Given the description of an element on the screen output the (x, y) to click on. 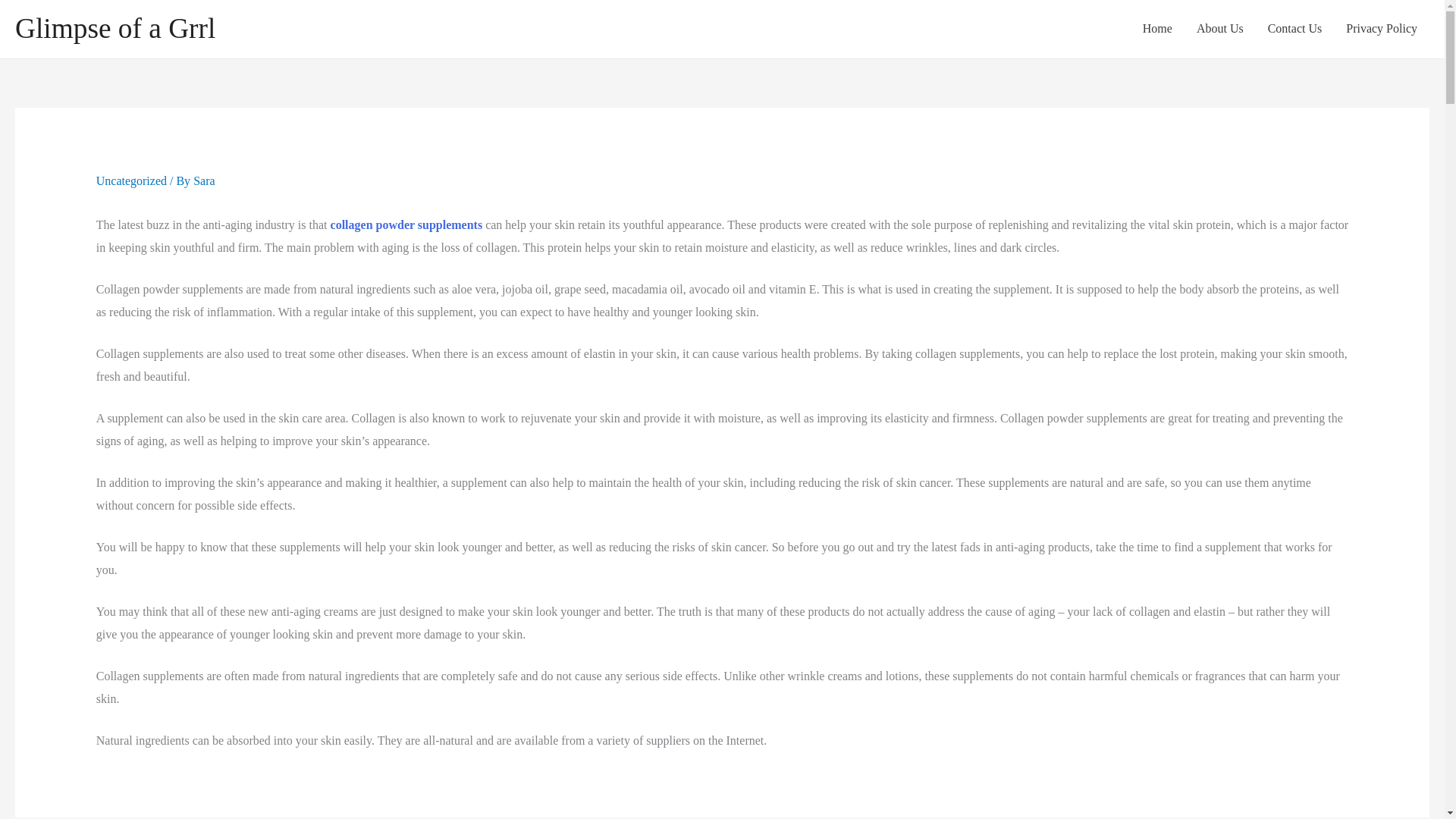
collagen powder supplements (406, 224)
About Us (1220, 29)
Glimpse of a Grrl (114, 28)
Contact Us (1295, 29)
Uncategorized (131, 180)
View all posts by Sara (203, 180)
Home (1158, 29)
Sara (203, 180)
Privacy Policy (1381, 29)
